Given the description of an element on the screen output the (x, y) to click on. 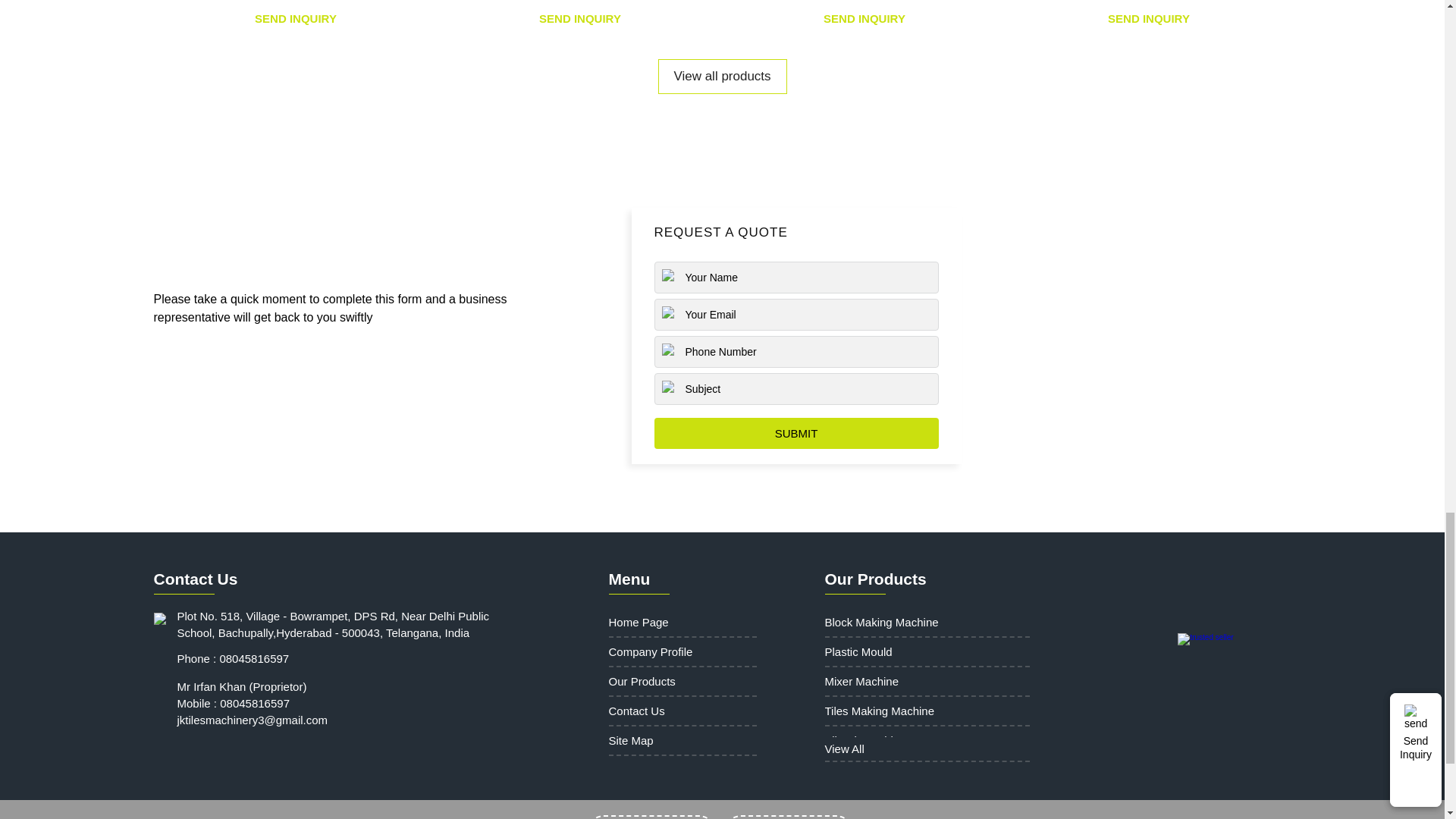
Submit (795, 432)
Subject (795, 388)
Your Email (795, 314)
Phone Number (795, 351)
Your Name (795, 277)
